Given the description of an element on the screen output the (x, y) to click on. 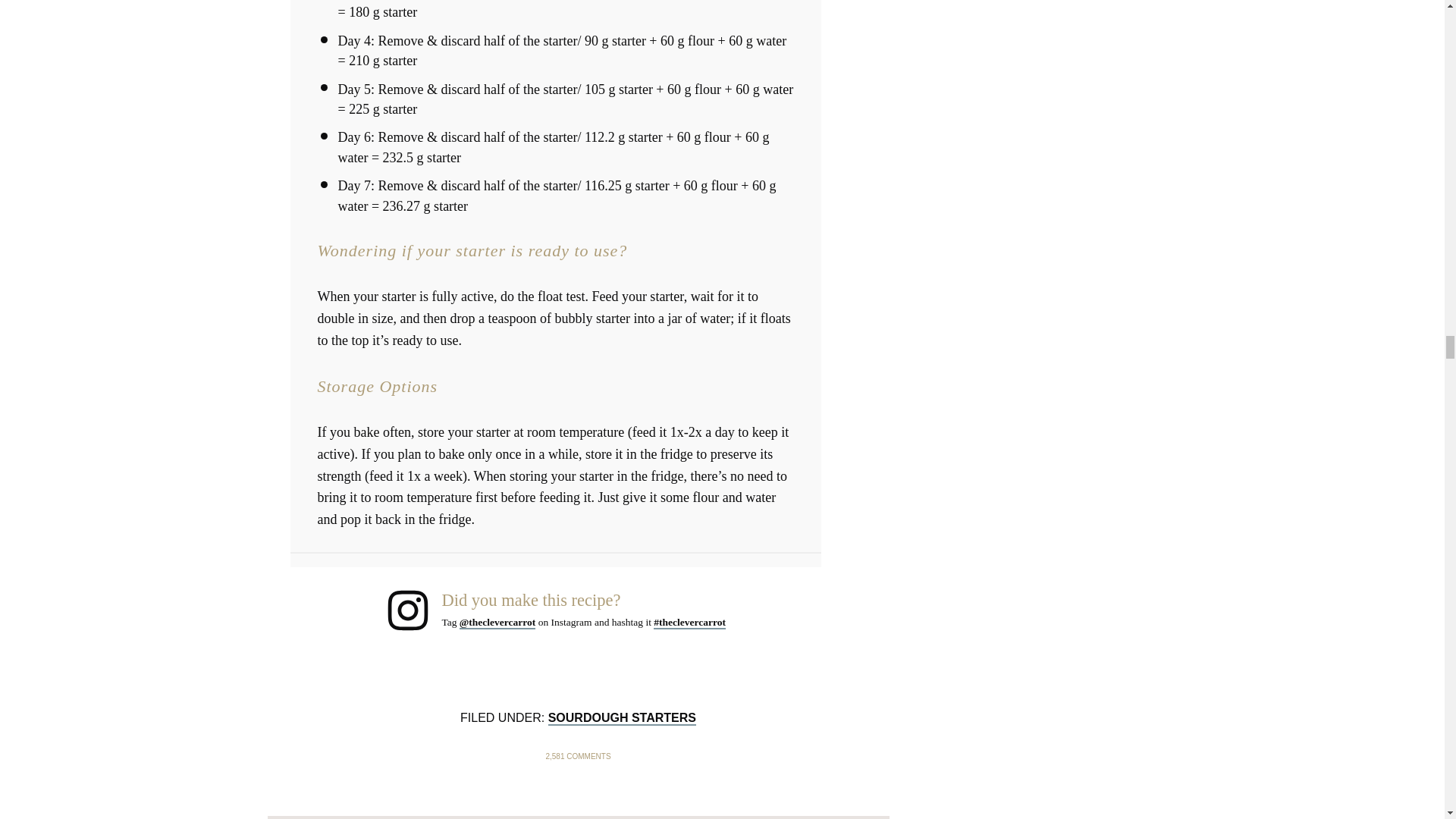
Page 8 (555, 453)
Page 8 (555, 107)
Page 8 (555, 296)
